Given the description of an element on the screen output the (x, y) to click on. 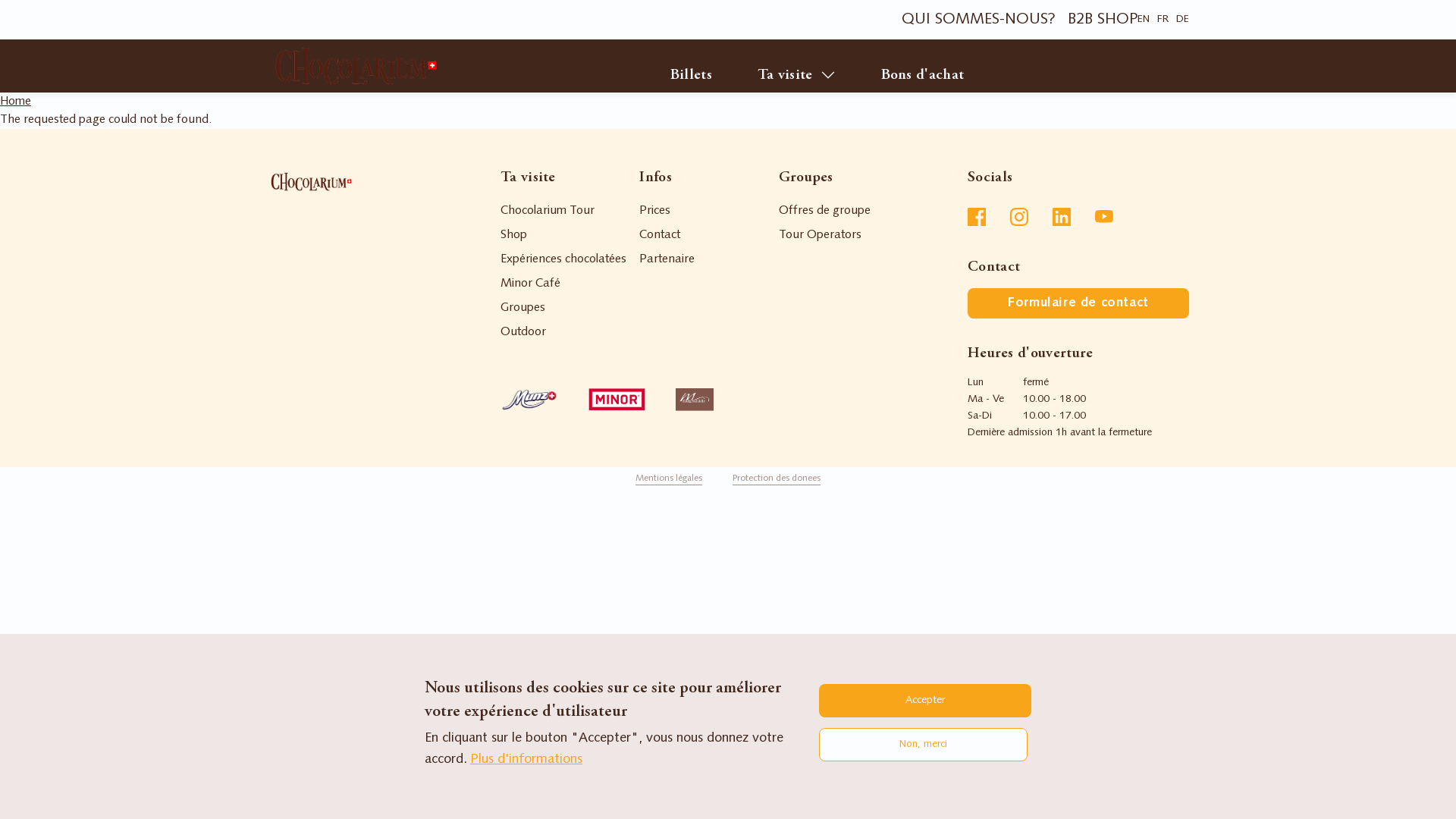
Formulaire de contact Element type: text (1078, 303)
Partenaire Element type: text (666, 259)
Non, merci Element type: text (923, 744)
EN Element type: text (1143, 19)
Shop Element type: text (513, 235)
Offres de groupe Element type: text (824, 210)
Home Element type: text (15, 101)
Protection des donees Element type: text (776, 478)
Tour Operators Element type: text (819, 235)
Chocolarium Tour Element type: text (547, 210)
Prices Element type: text (654, 210)
Plus d'informations Element type: text (526, 759)
Outdoor Element type: text (523, 332)
Chocolarium Tour Element type: text (728, 191)
Shop Element type: text (281, 99)
Outdoor Element type: text (292, 99)
Ta visite Element type: text (796, 74)
FR Element type: text (1162, 19)
Billets Element type: text (691, 74)
Accepter Element type: text (925, 700)
Chocolarium Tour Element type: text (318, 99)
Bons d'achat Element type: text (922, 74)
Groupes Element type: text (522, 307)
Contact Element type: text (659, 235)
B2B SHOP Element type: text (1102, 19)
DE Element type: text (1182, 19)
Skip to main content Element type: text (0, 0)
Infos pratiques Element type: text (310, 99)
QUI SOMMES-NOUS? Element type: text (978, 19)
Groupes Element type: text (291, 99)
